Given the description of an element on the screen output the (x, y) to click on. 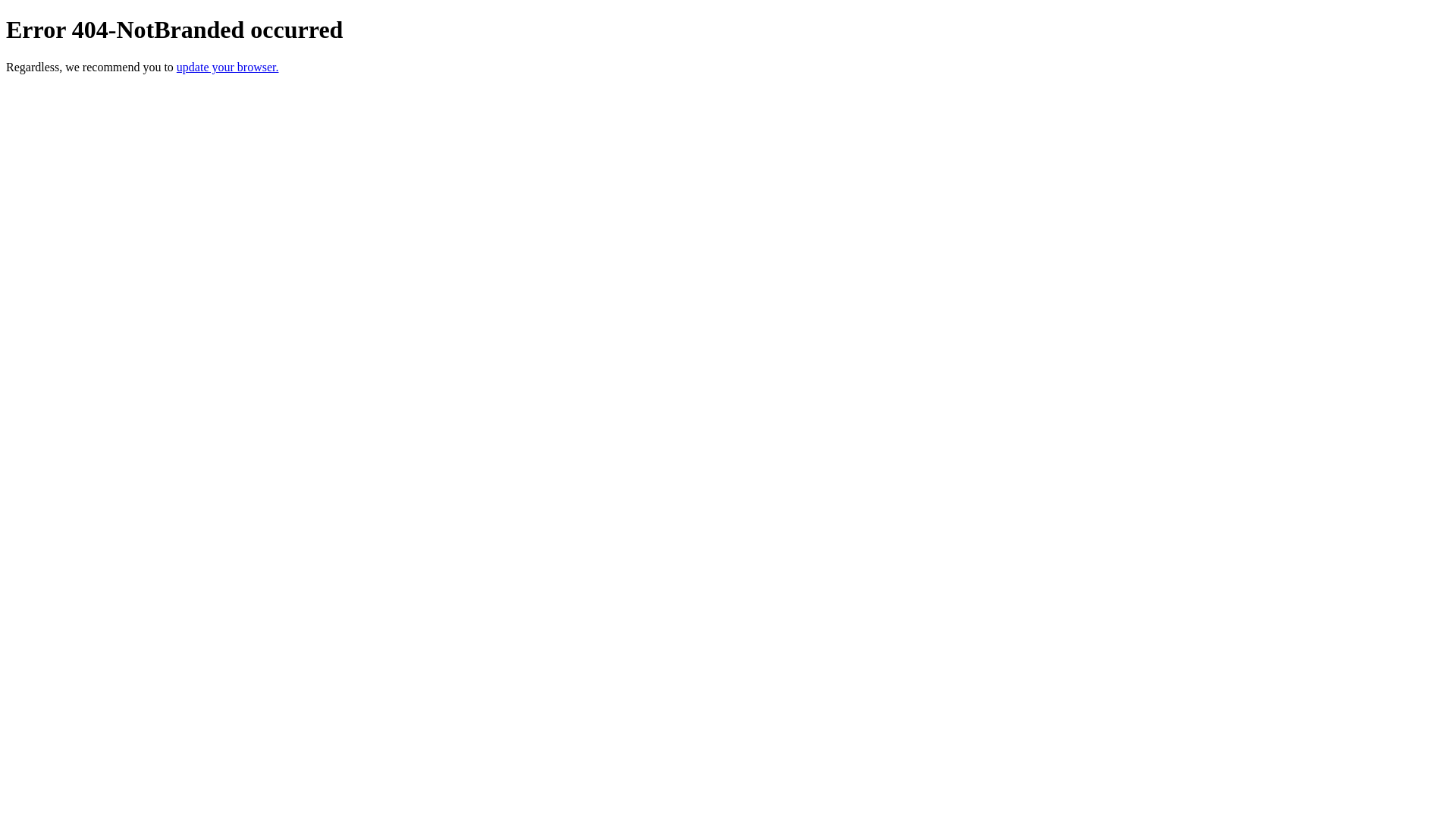
update your browser. Element type: text (227, 66)
